Given the description of an element on the screen output the (x, y) to click on. 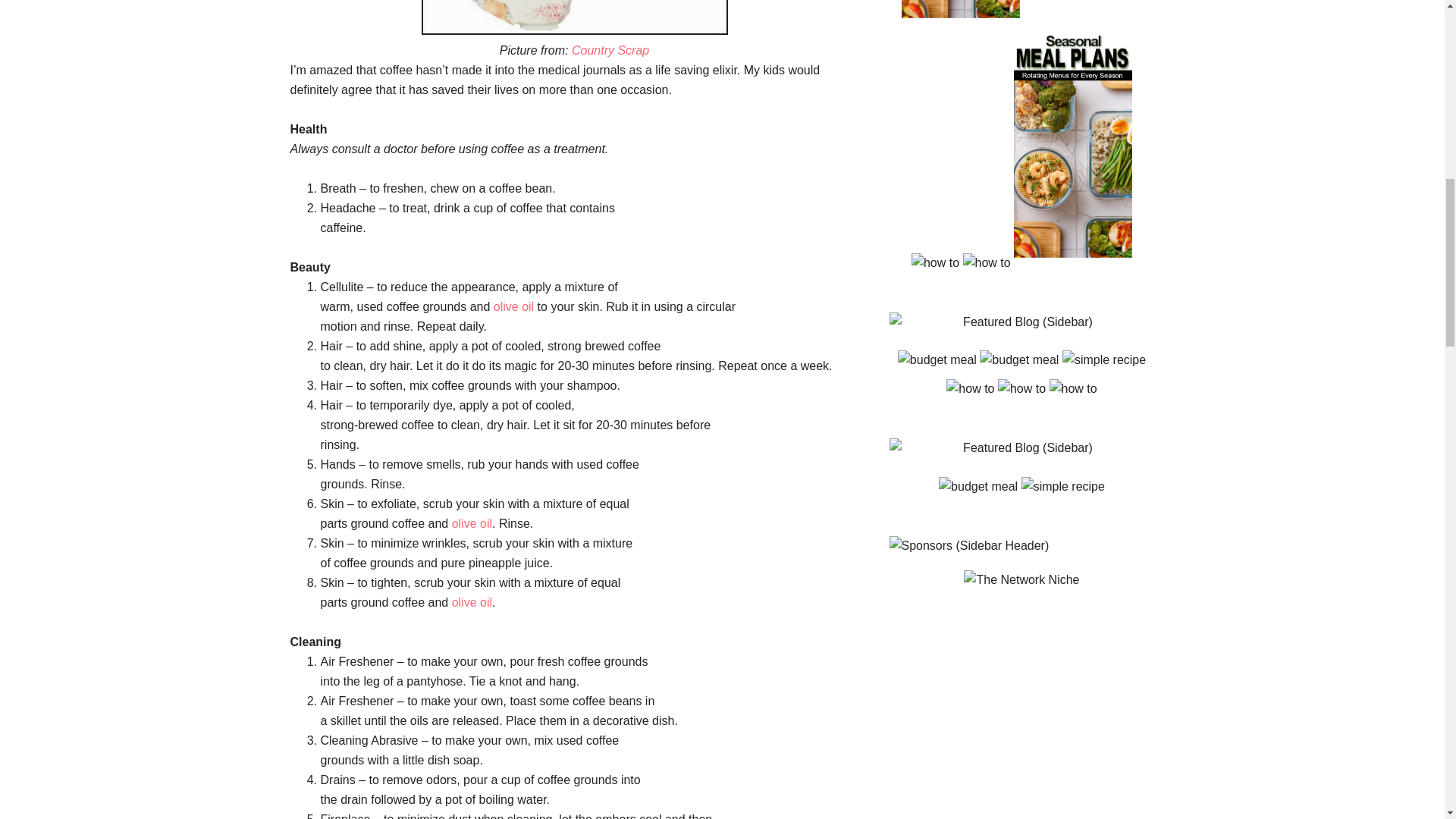
Country Scrap (610, 50)
The Network Niche (1020, 579)
olive oil (471, 522)
olive oil (513, 306)
olive oil (471, 602)
